Given the description of an element on the screen output the (x, y) to click on. 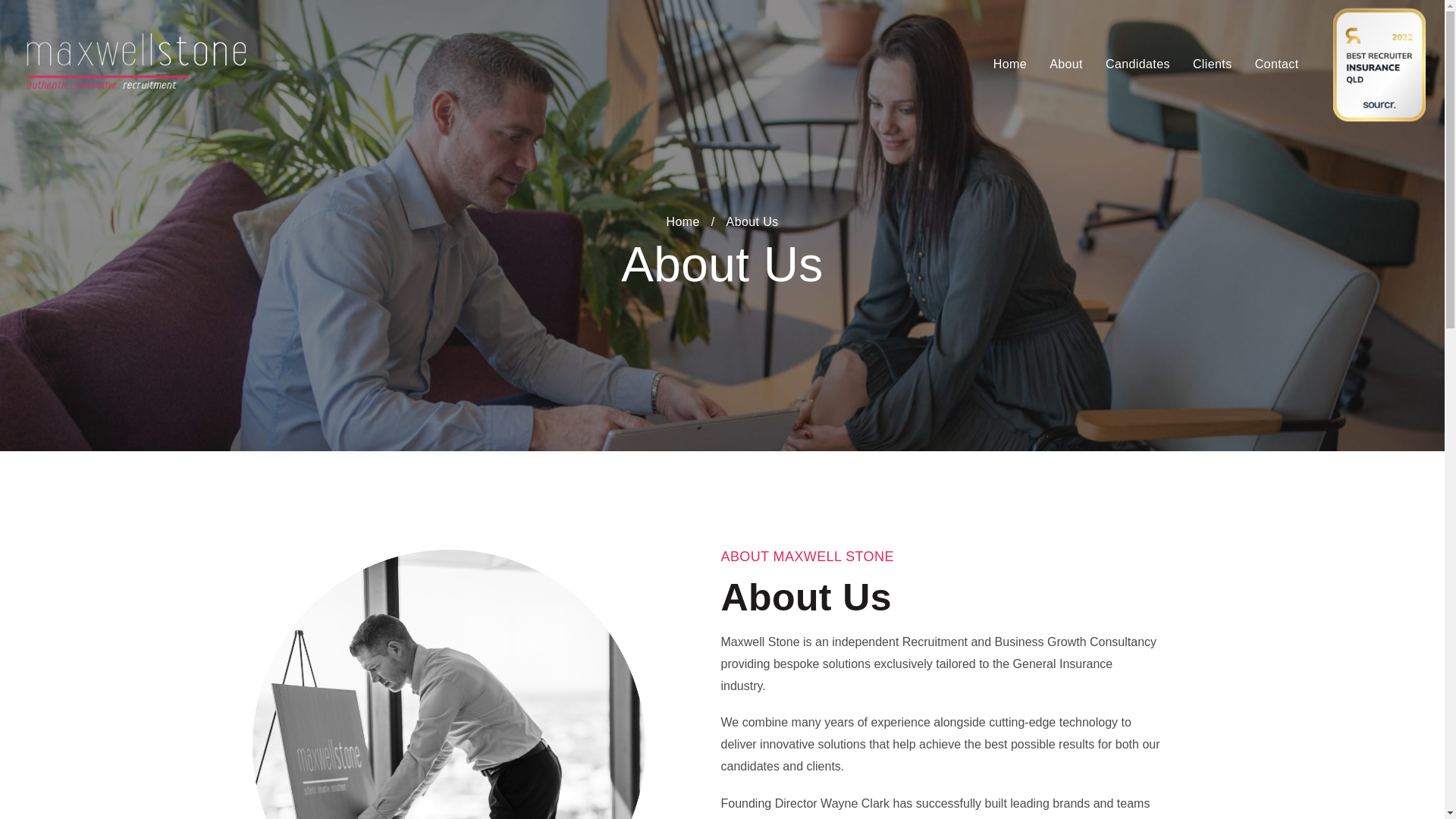
Contact (1276, 63)
Clients (1211, 63)
Candidates (1137, 63)
Home (1009, 63)
Home (681, 221)
About (1066, 63)
